Given the description of an element on the screen output the (x, y) to click on. 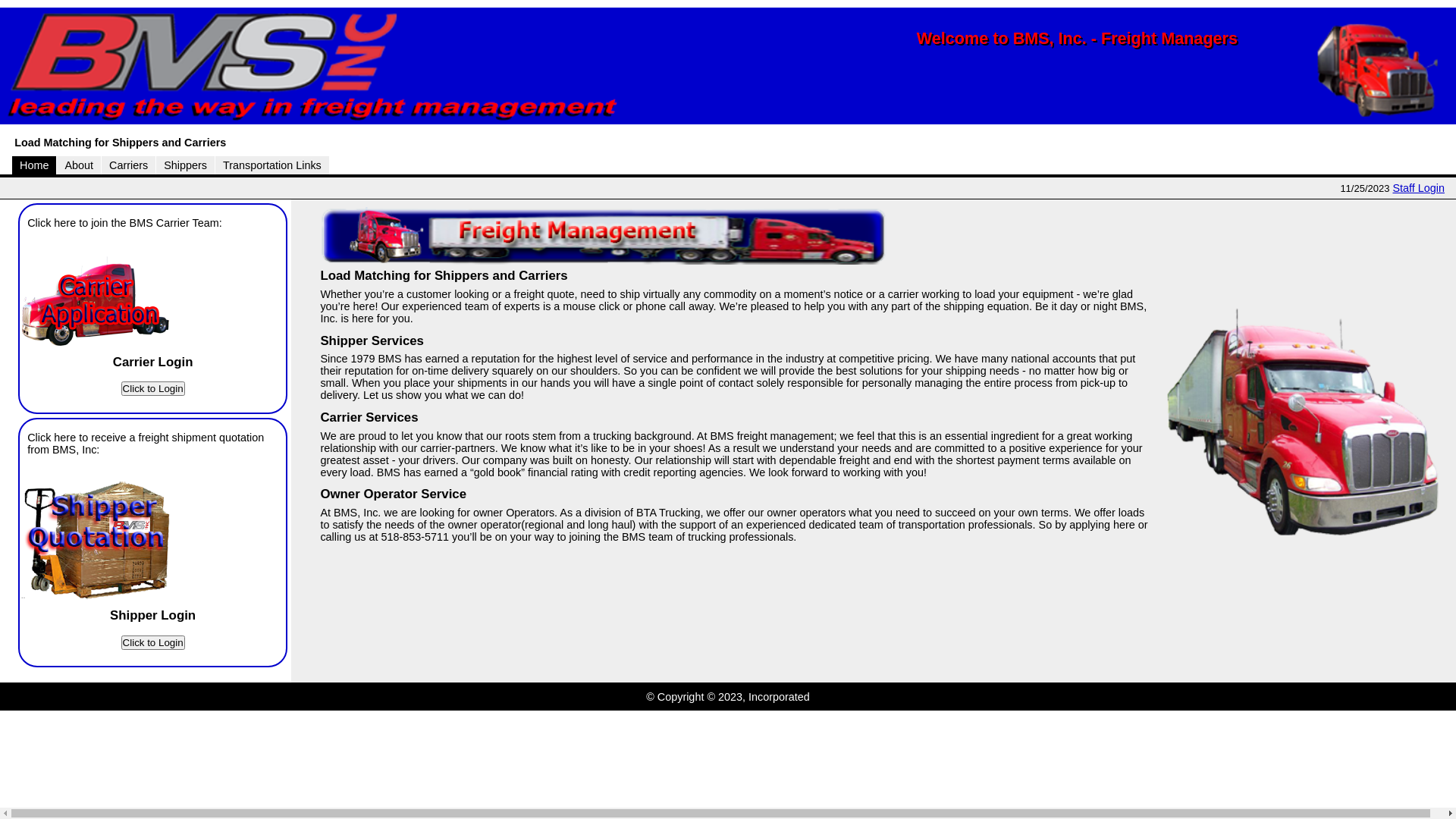
Shippers Element type: text (185, 165)
Carriers Element type: text (128, 165)
Staff Login Element type: text (1418, 188)
Click to Login Element type: text (153, 642)
About Element type: text (78, 165)
Transportation Links Element type: text (272, 165)
Home Element type: text (34, 165)
Click to Login Element type: text (153, 388)
